Given the description of an element on the screen output the (x, y) to click on. 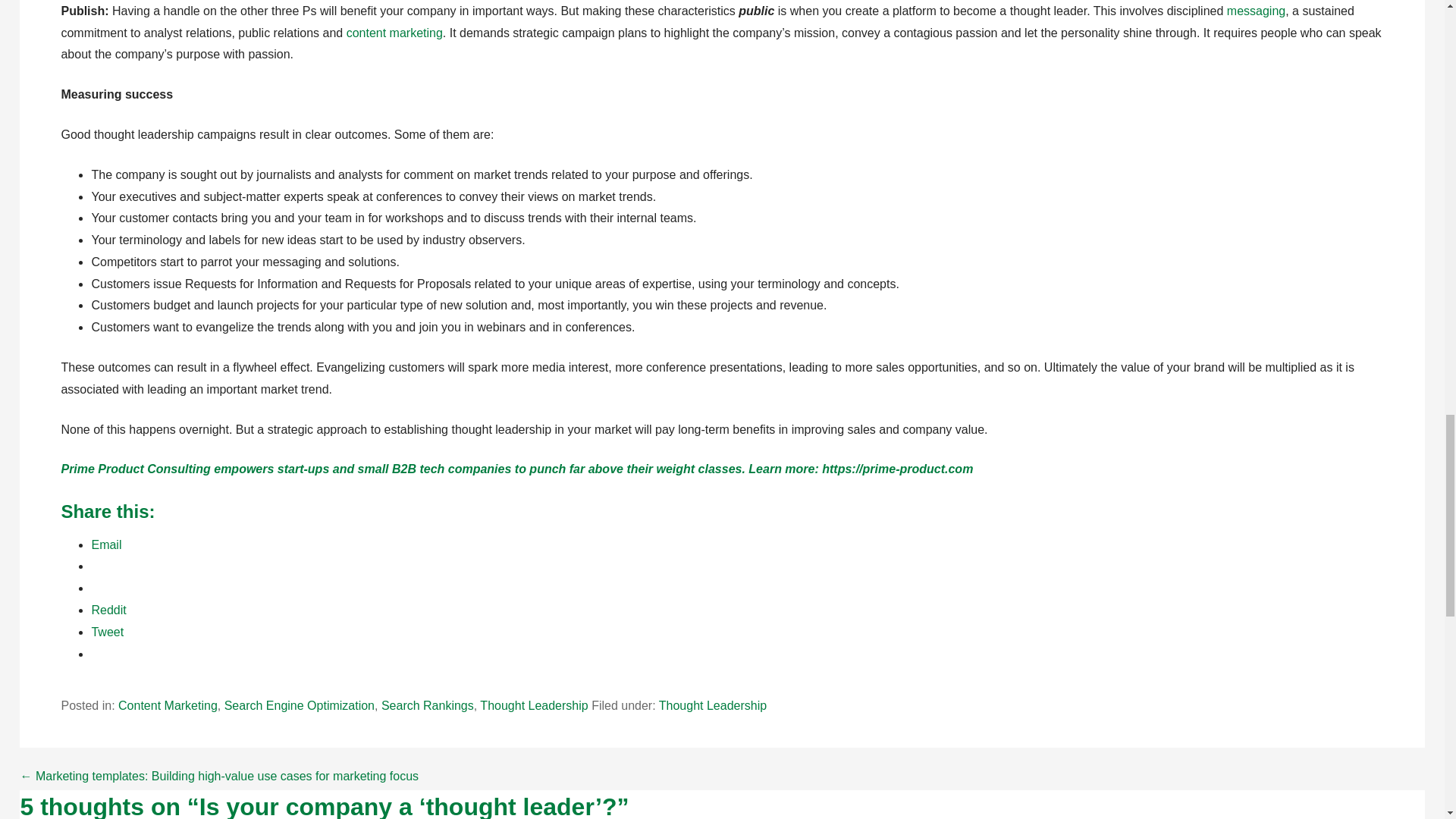
content marketing (394, 32)
Thought Leadership (713, 705)
messaging (1256, 10)
Email (105, 544)
Reddit (107, 609)
Click to share on Reddit (107, 609)
Search Engine Optimization (299, 705)
Search Rankings (427, 705)
Thought Leadership (534, 705)
Content Marketing (166, 705)
Tweet (106, 631)
Click to email a link to a friend (105, 544)
